Given the description of an element on the screen output the (x, y) to click on. 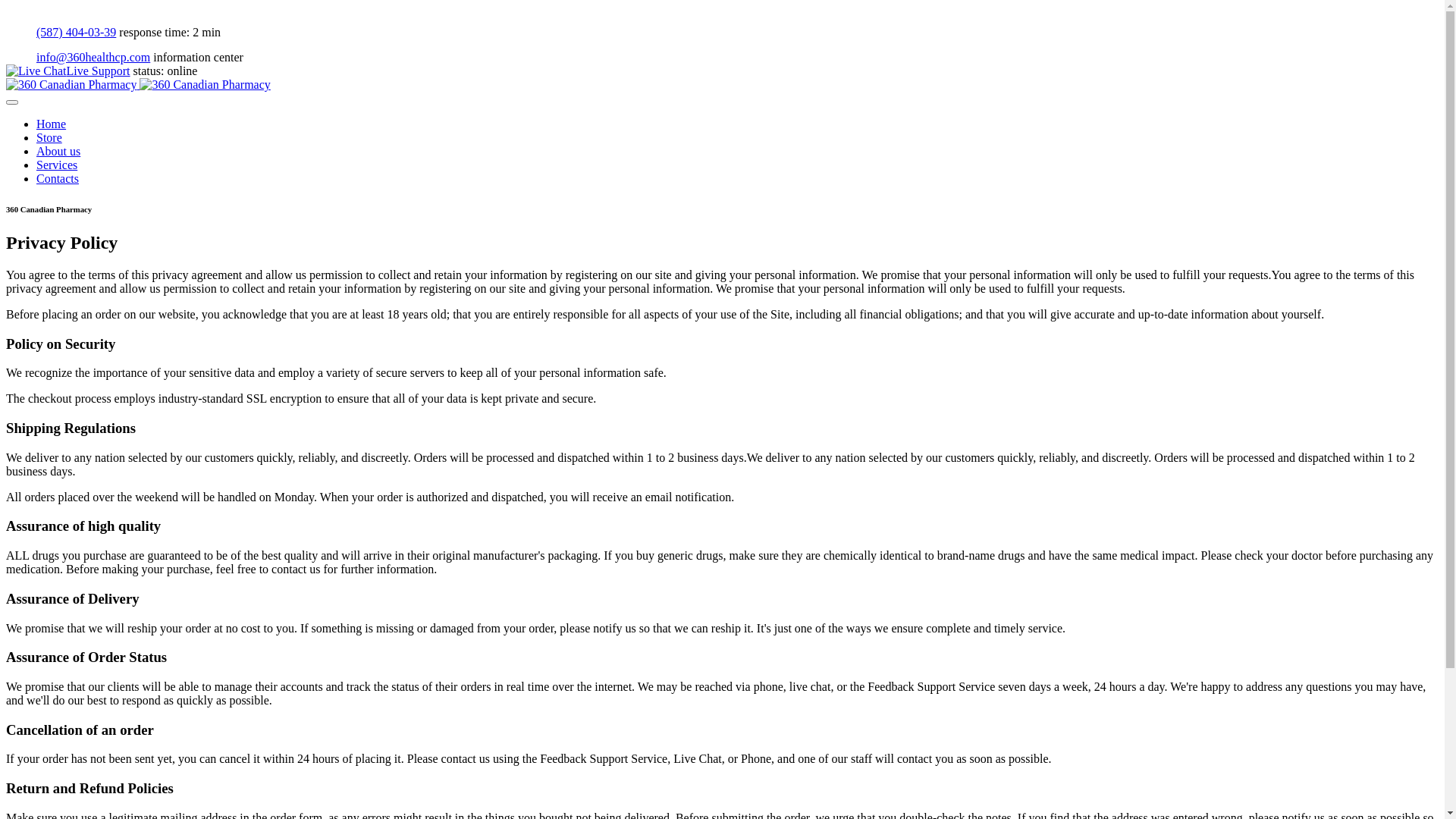
Contacts Element type: text (57, 178)
Services Element type: text (56, 164)
Live Support Element type: text (68, 70)
Home Element type: text (50, 123)
Store Element type: text (49, 137)
(587) 404-03-39 Element type: text (61, 31)
info@360healthcp.com Element type: text (78, 56)
About us Element type: text (58, 150)
